Given the description of an element on the screen output the (x, y) to click on. 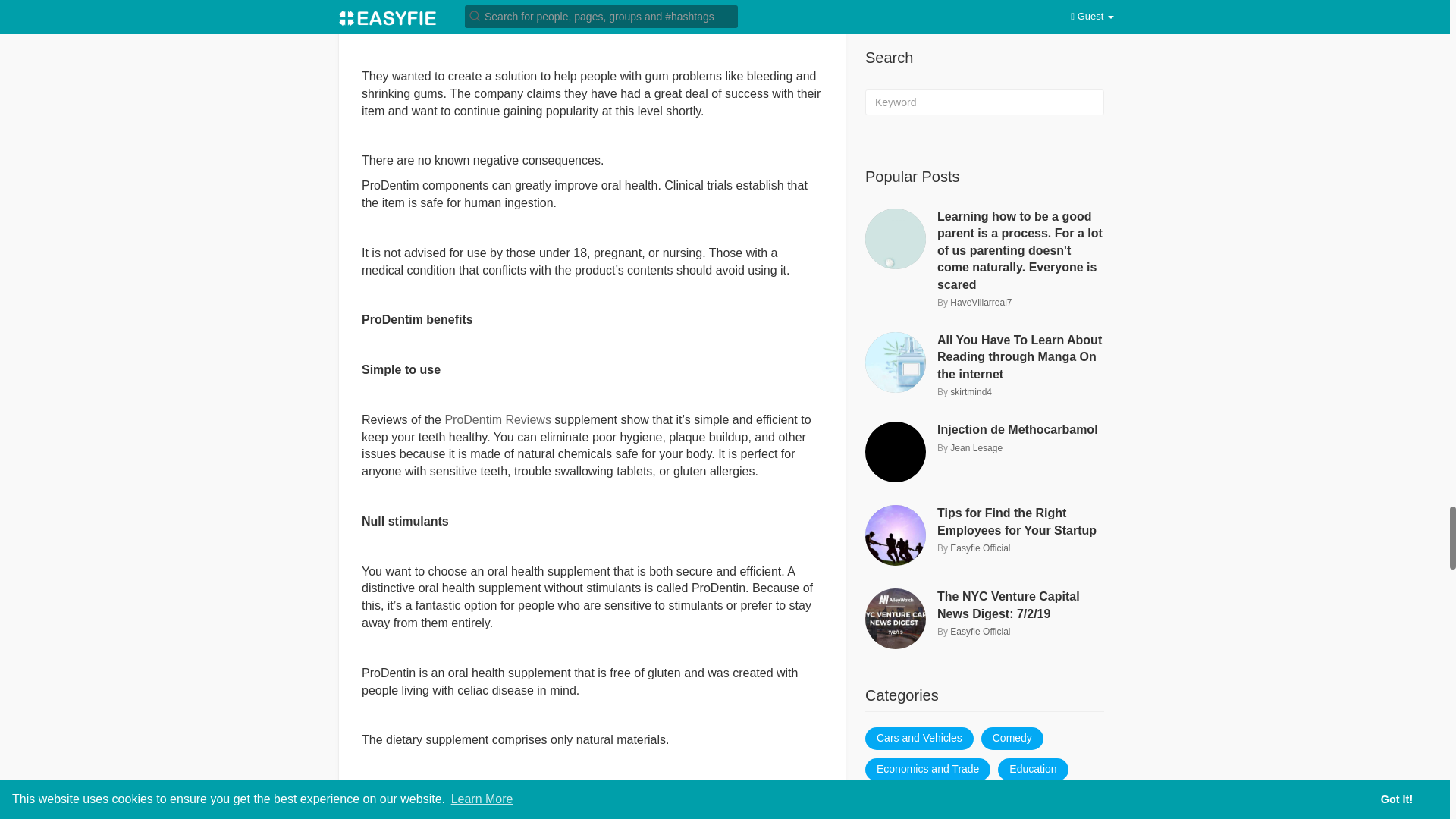
ProDentim Reviews (497, 419)
